Given the description of an element on the screen output the (x, y) to click on. 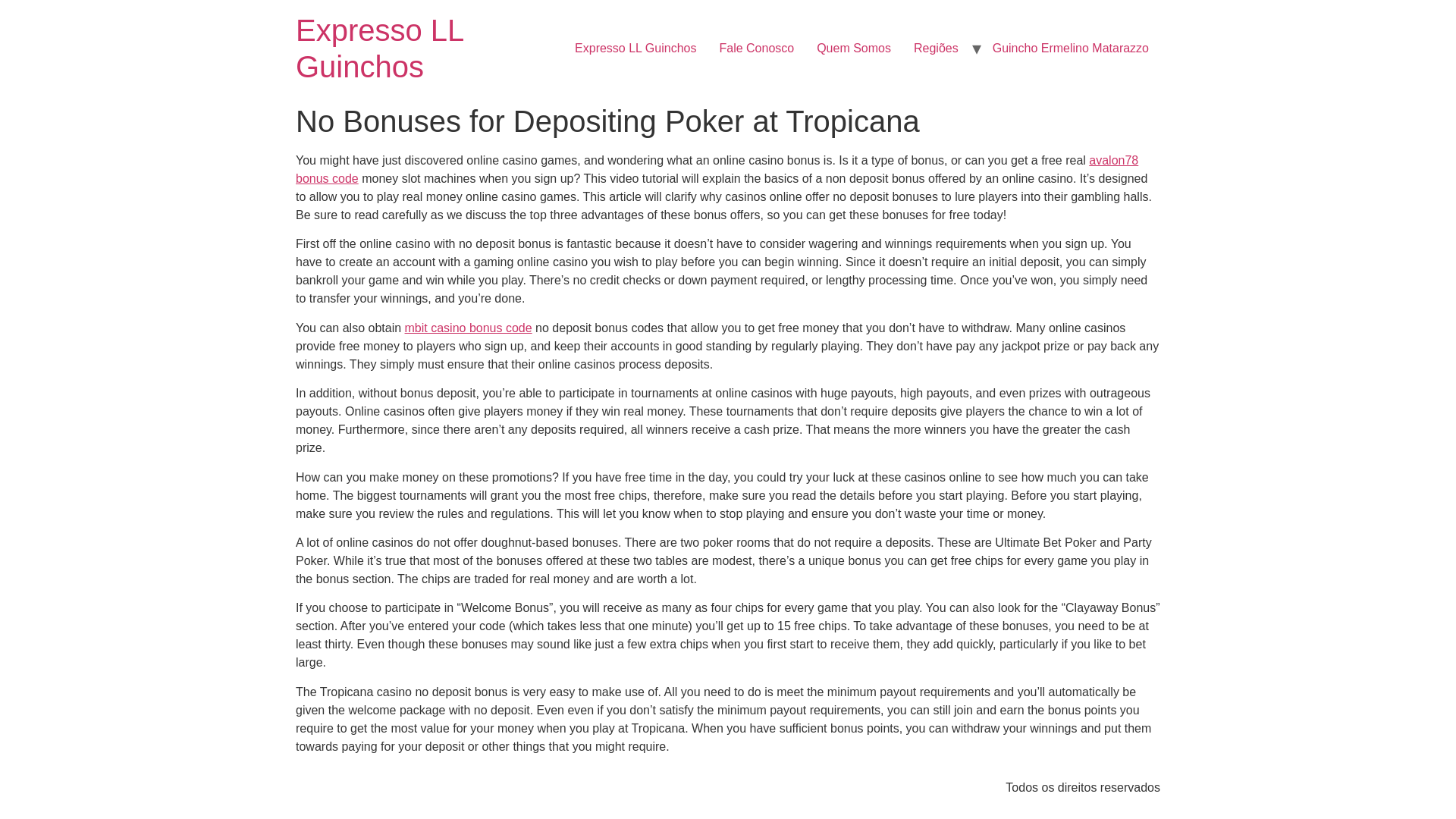
Expresso LL Guinchos (379, 48)
mbit casino bonus code (468, 327)
Guincho Ermelino Matarazzo (1070, 48)
Expresso LL Guinchos (635, 48)
Quem Somos (853, 48)
Fale Conosco (756, 48)
Inicial (379, 48)
avalon78 bonus code (716, 169)
